Given the description of an element on the screen output the (x, y) to click on. 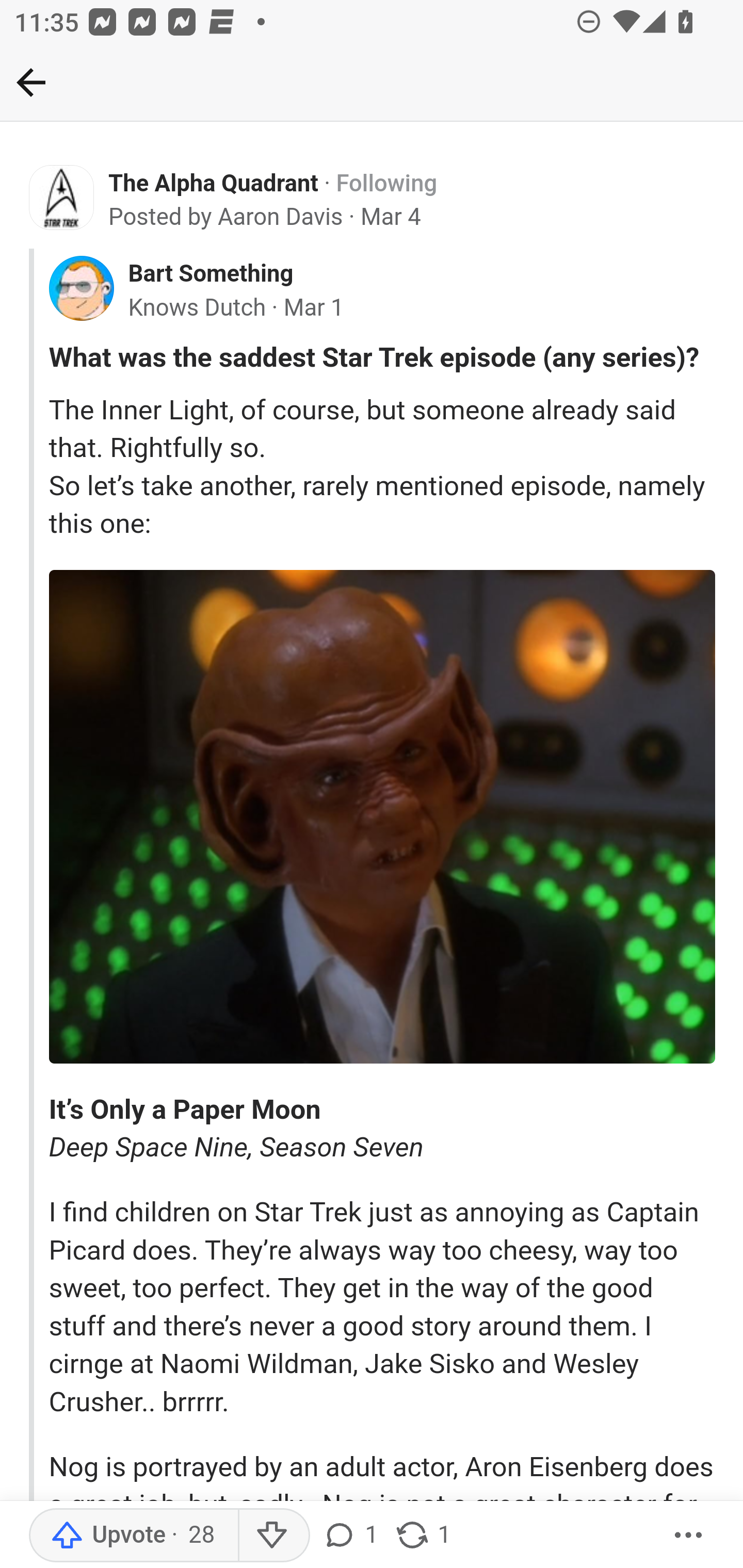
Back (30, 82)
Icon for The Alpha Quadrant (61, 198)
The Alpha Quadrant (213, 183)
Following (386, 183)
Profile photo for Bart Something (80, 288)
Bart Something (210, 274)
main-qimg-0a9453f55125d56c38dfed03be596402 (381, 816)
Upvote Downvote (173, 1535)
Upvote (133, 1535)
Downvote (273, 1535)
1 comment (353, 1535)
1 share (421, 1535)
More (688, 1535)
